Given the description of an element on the screen output the (x, y) to click on. 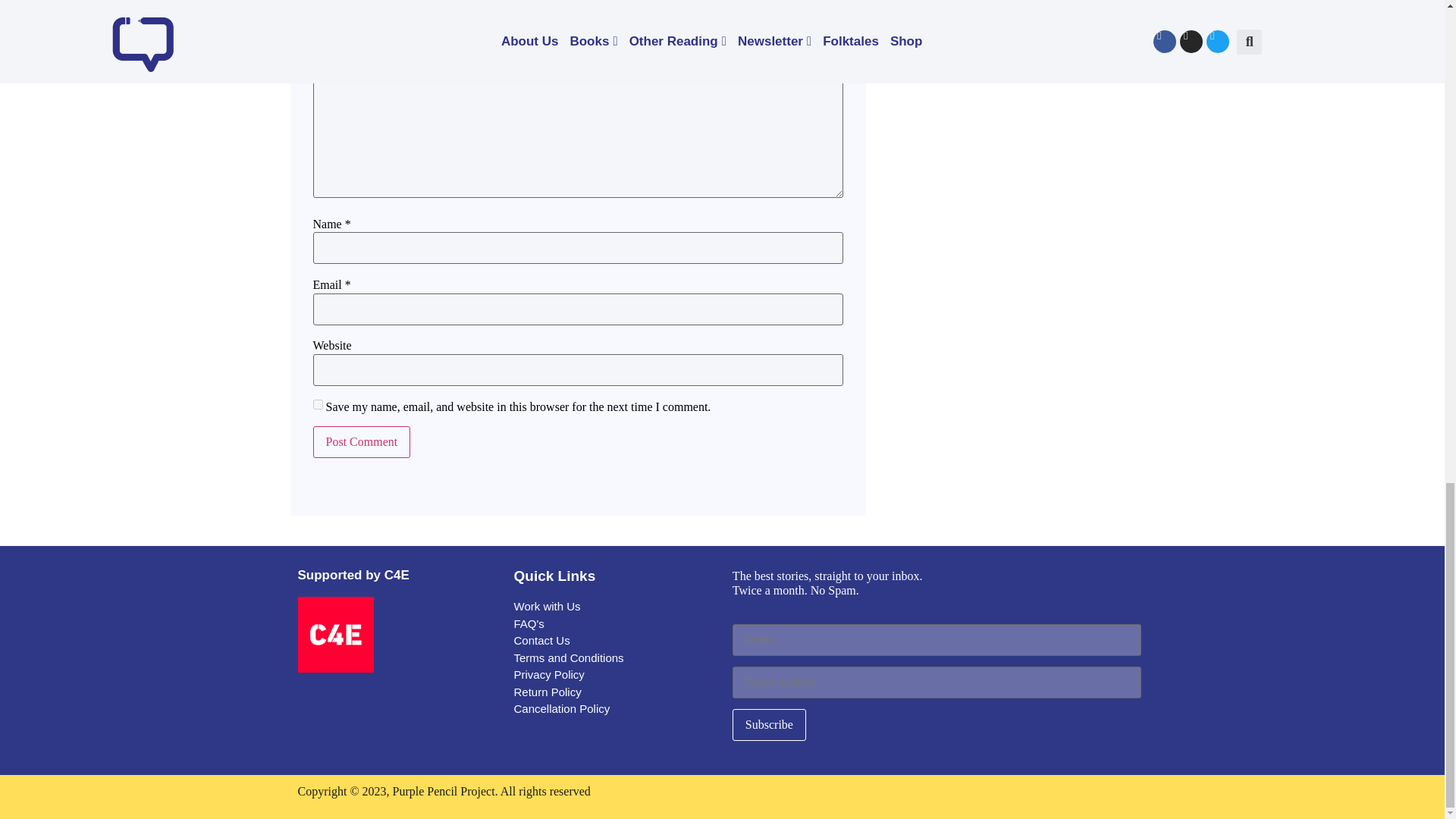
Post Comment (361, 441)
C4E (334, 634)
yes (317, 404)
Subscribe (769, 725)
